Given the description of an element on the screen output the (x, y) to click on. 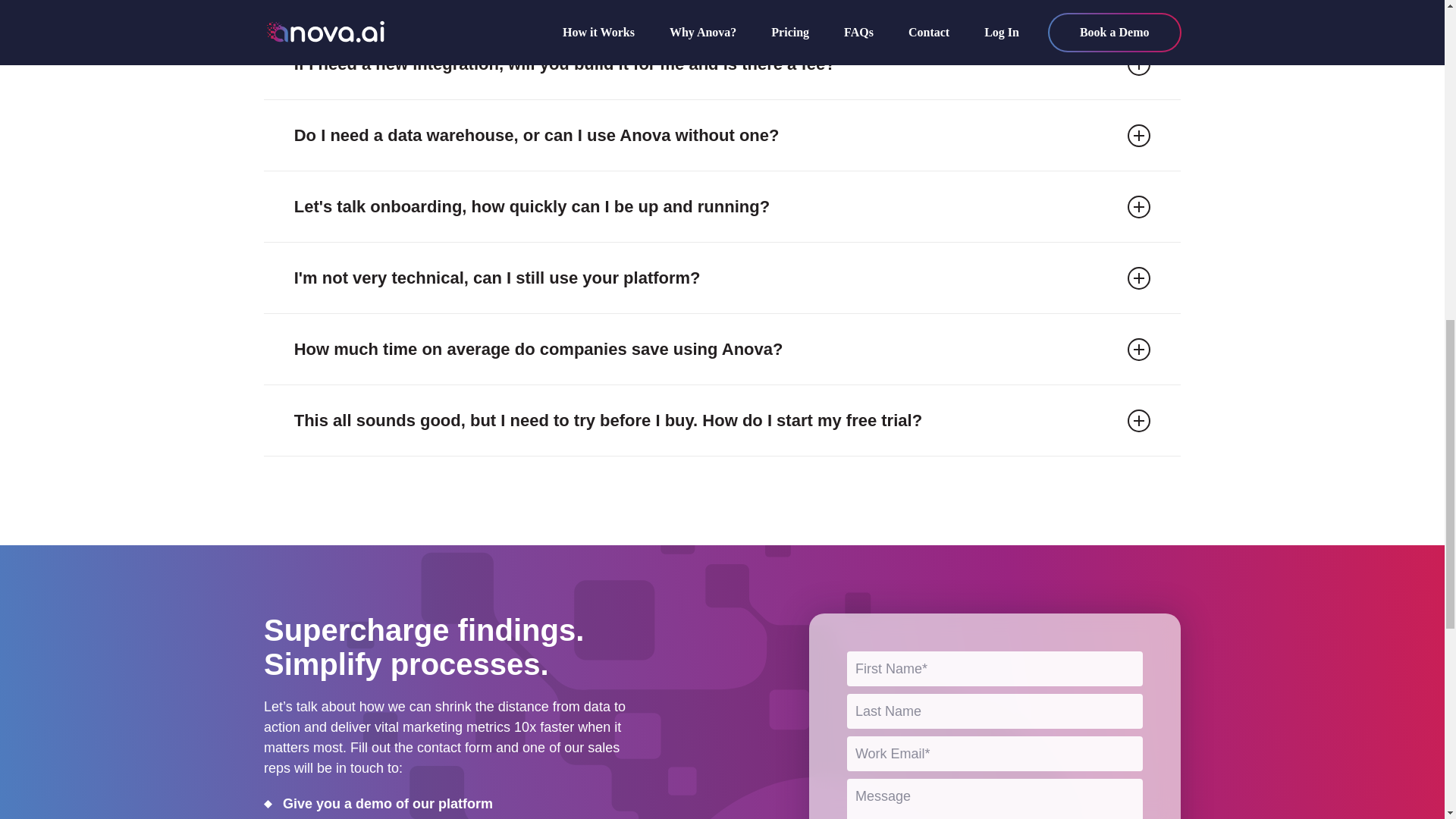
Do I need a data warehouse, or can I use Anova without one? (722, 134)
Which marketing platforms do you have integrations with? (722, 13)
Let's talk onboarding, how quickly can I be up and running? (722, 206)
How much time on average do companies save using Anova? (722, 348)
I'm not very technical, can I still use your platform? (722, 277)
